Given the description of an element on the screen output the (x, y) to click on. 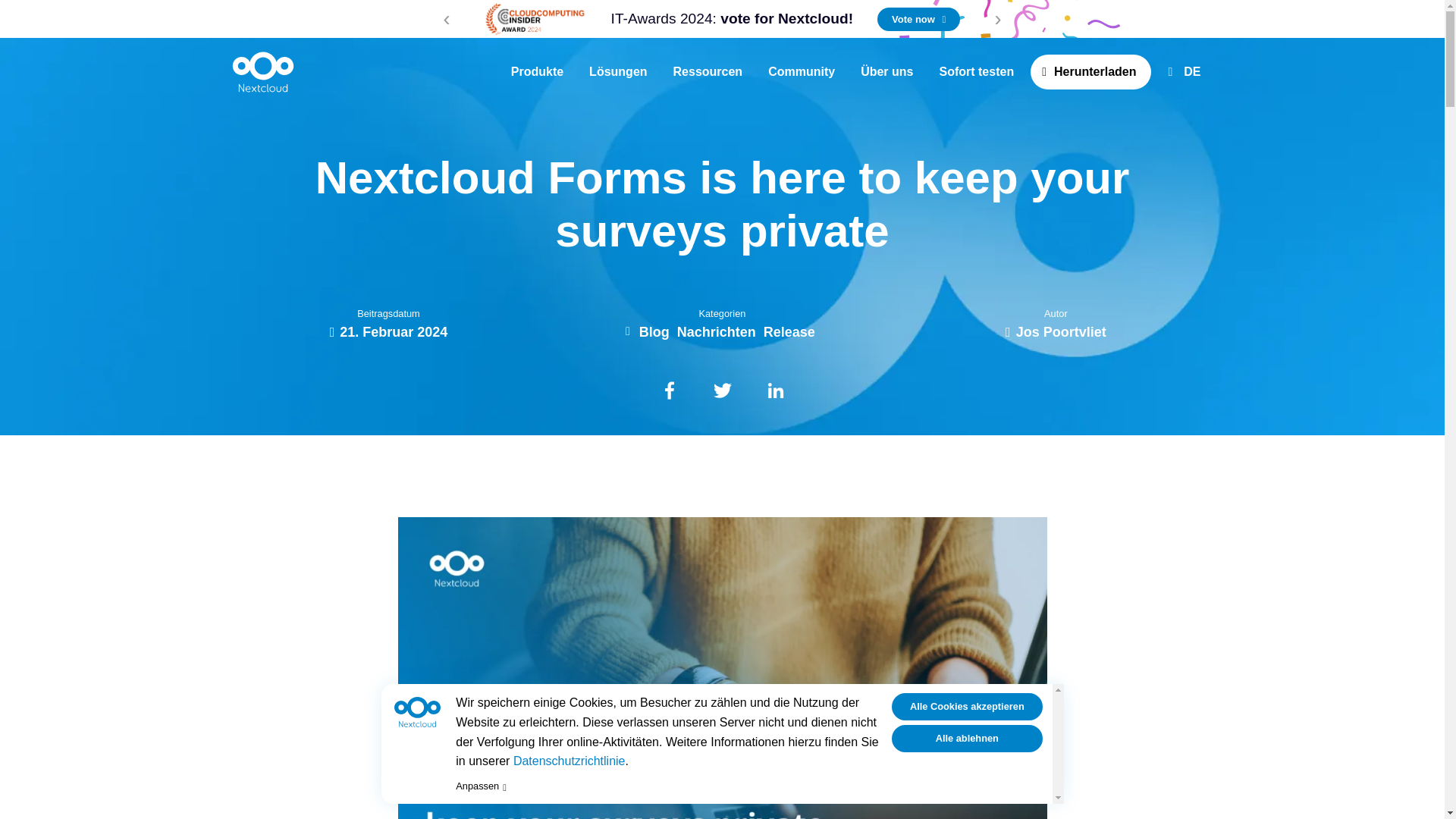
Produkte (537, 71)
Vote for Nextcloud in the CloudComputing-Insider Award 2024 (535, 18)
Vote now (918, 19)
Vote for Nextcloud in the CloudComputing-Insider Award 2024 (732, 19)
IT-Awards 2024: vote for Nextcloud! (732, 19)
Vote for Nextcloud in the CloudComputing-Insider Award 2024 (918, 19)
